Given the description of an element on the screen output the (x, y) to click on. 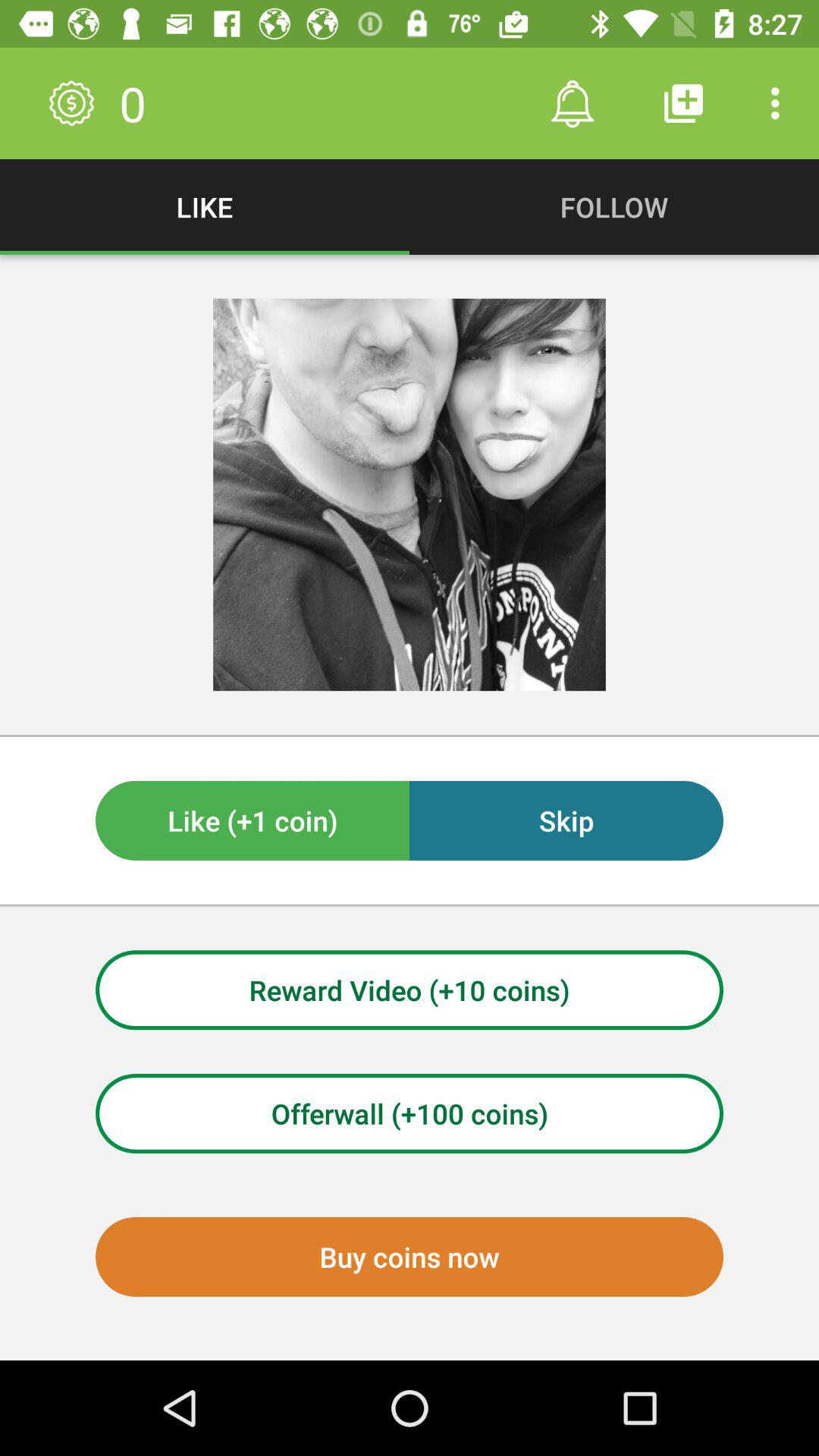
launch icon above the follow item (683, 103)
